Given the description of an element on the screen output the (x, y) to click on. 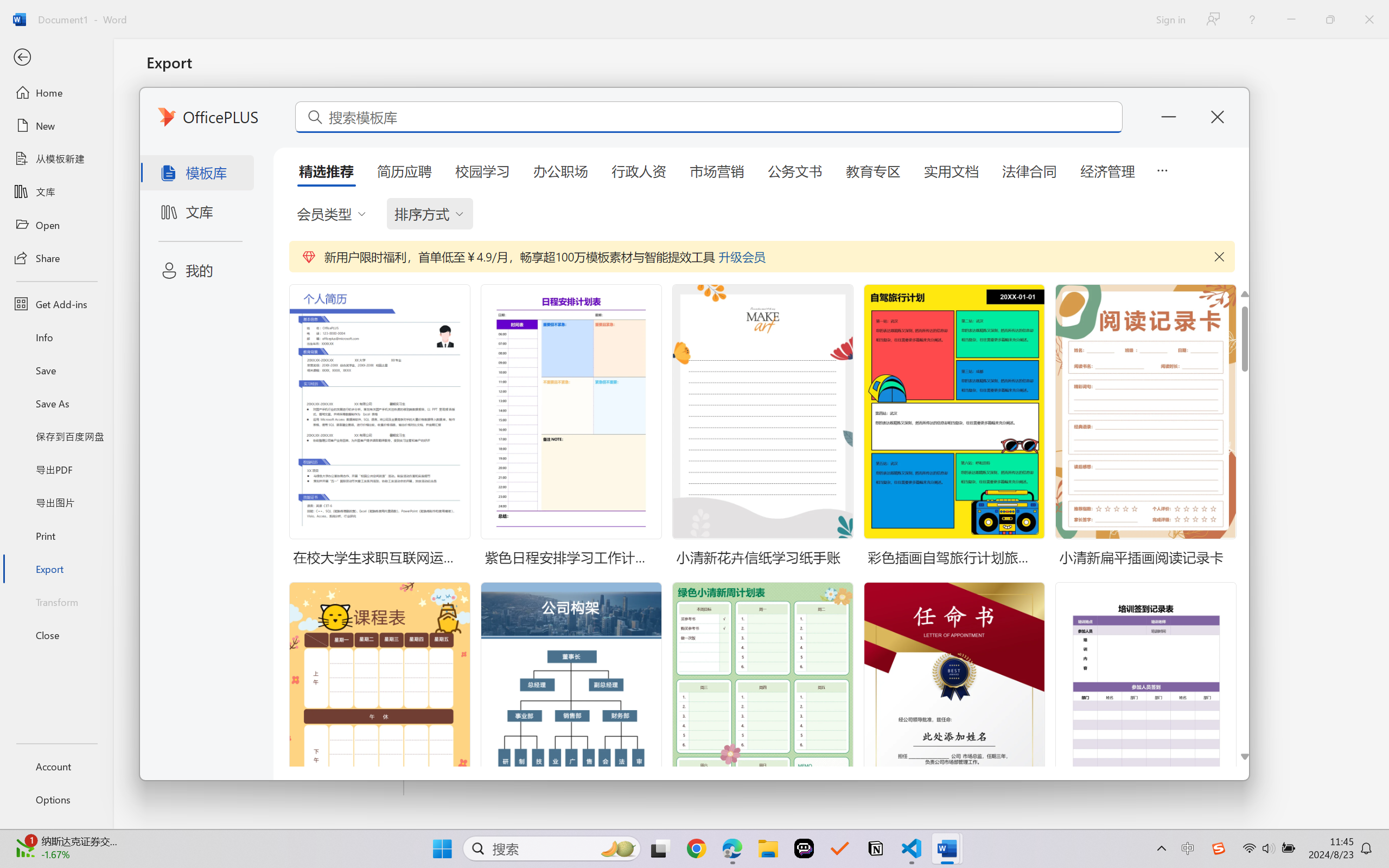
Print (56, 535)
Info (56, 337)
Account (56, 765)
